Given the description of an element on the screen output the (x, y) to click on. 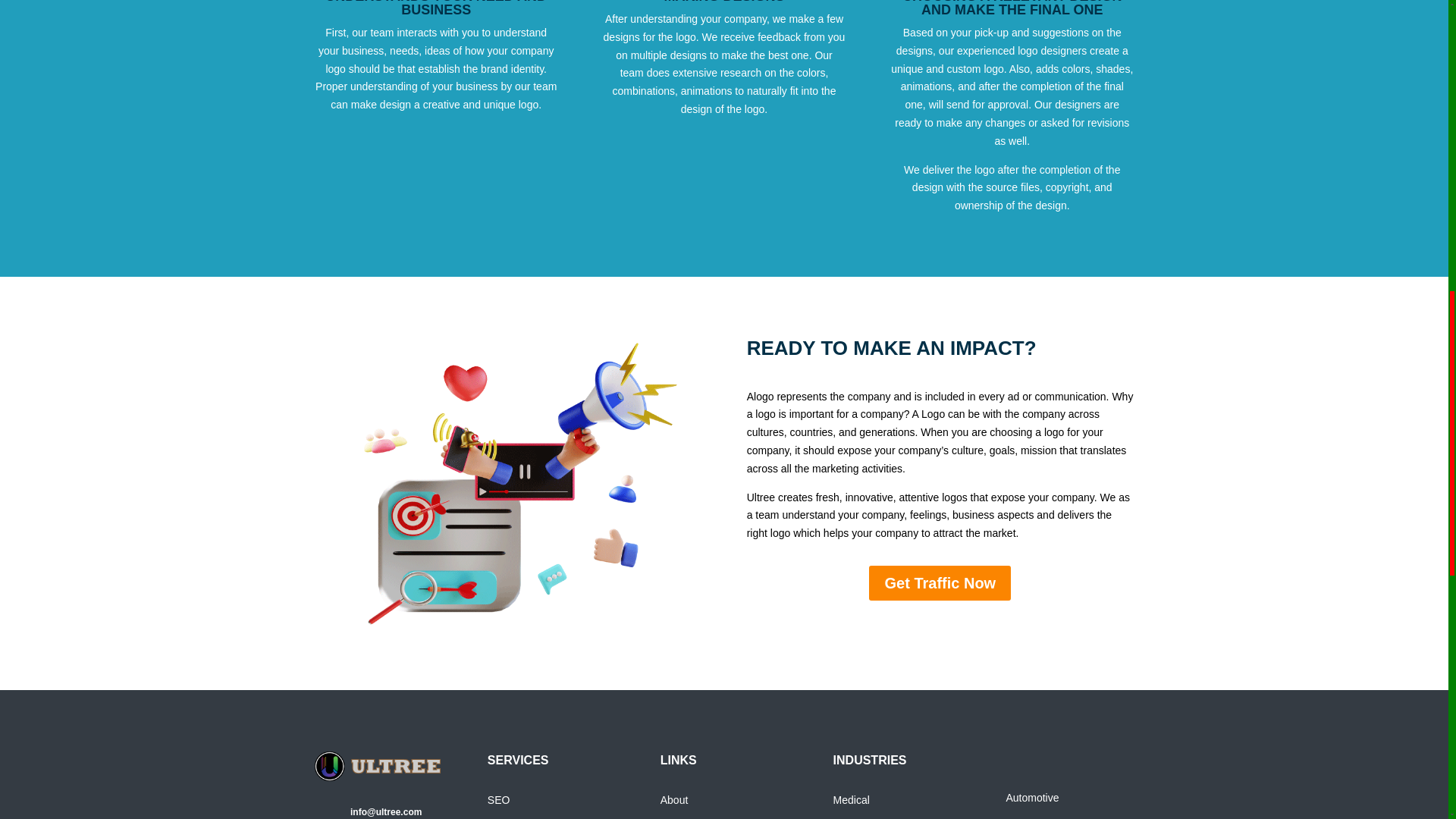
Get Traffic Now (939, 582)
ultree (378, 766)
trafff (507, 483)
